Given the description of an element on the screen output the (x, y) to click on. 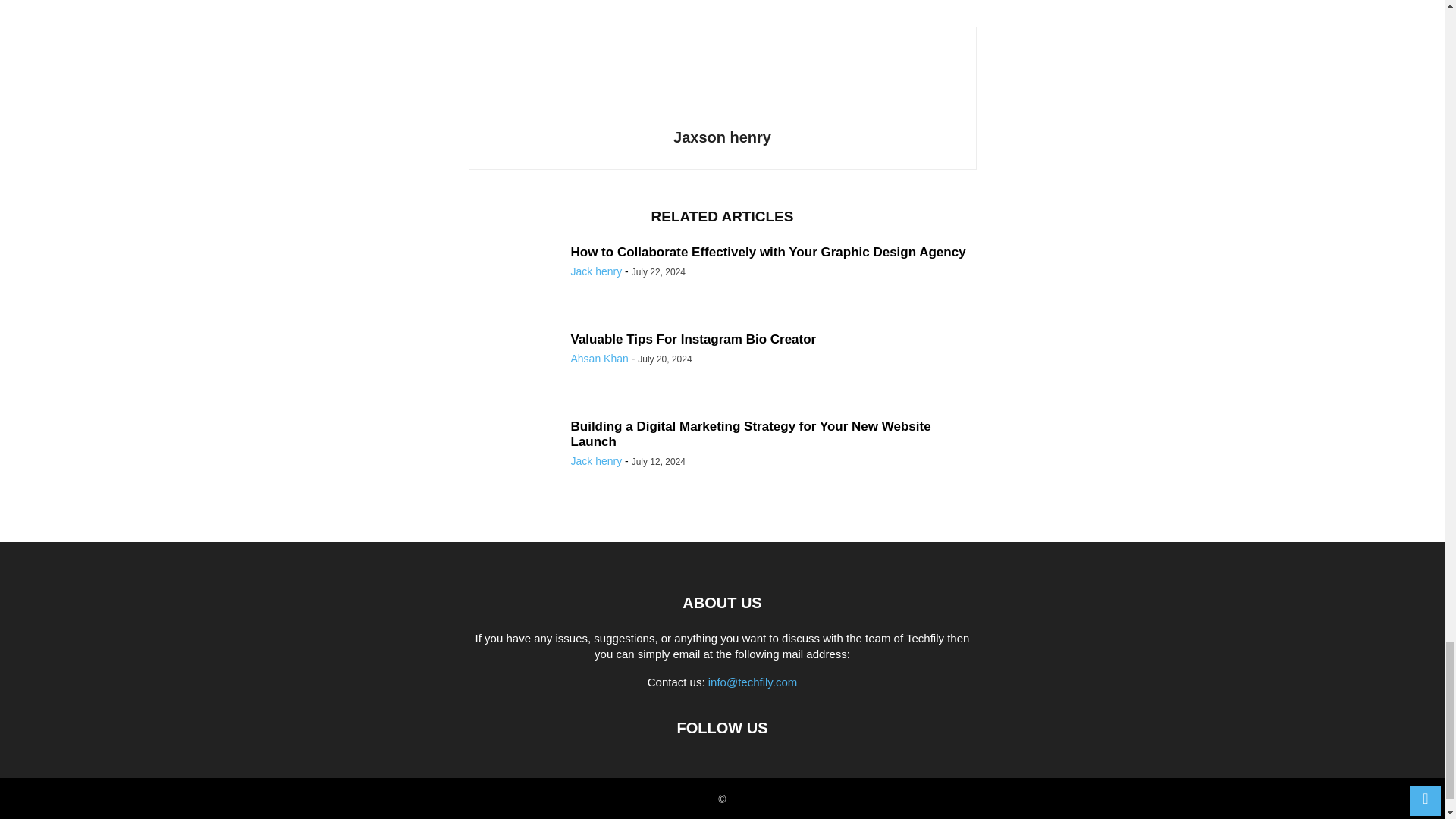
Valuable Tips For Instagram Bio Creator (692, 339)
Ahsan Khan (598, 358)
Jaxson henry (721, 136)
Jack henry (595, 271)
